Given the description of an element on the screen output the (x, y) to click on. 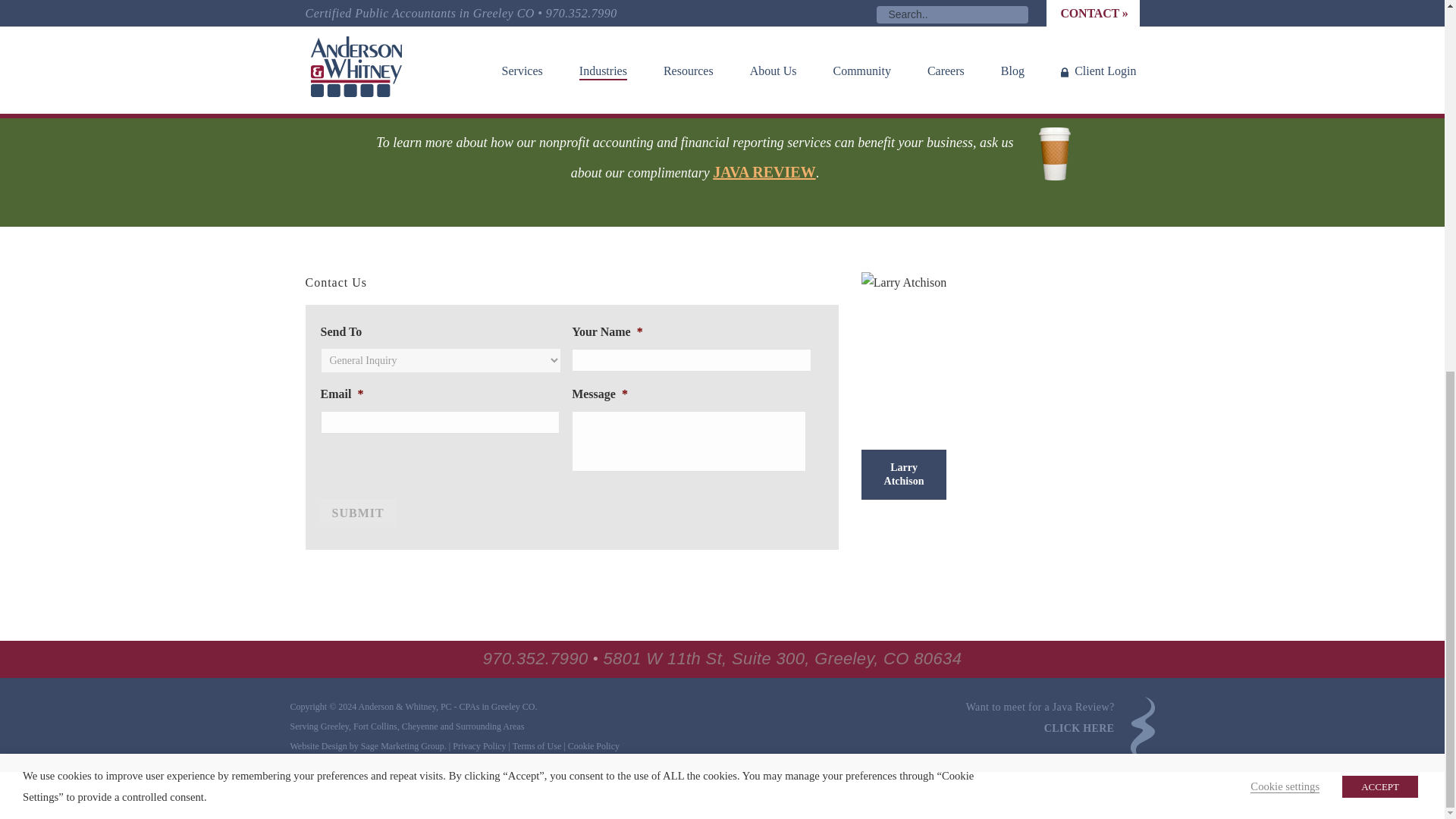
Submit (357, 512)
Fort Collins Web Design (402, 746)
